Given the description of an element on the screen output the (x, y) to click on. 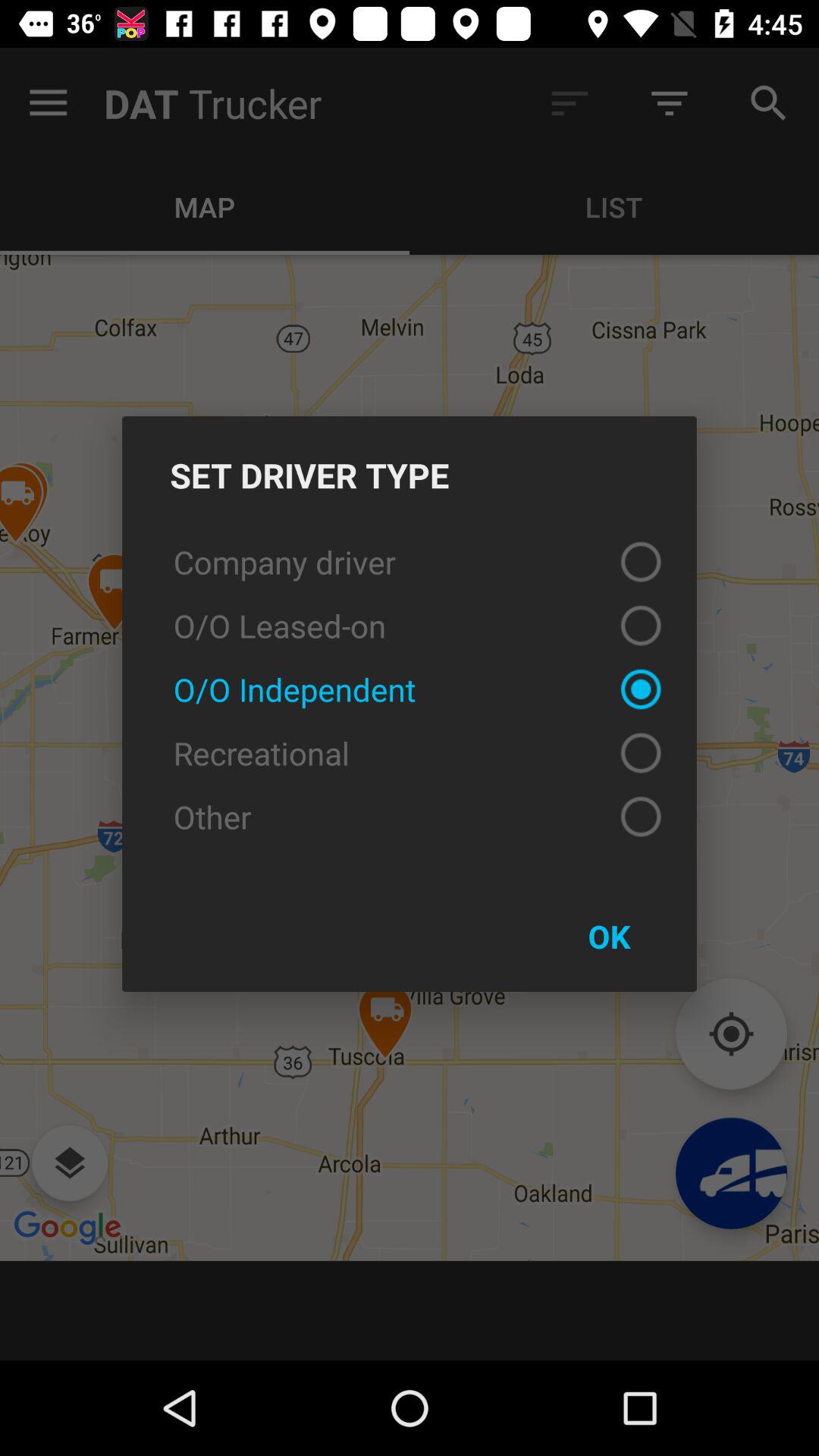
select the ok icon (608, 935)
